Given the description of an element on the screen output the (x, y) to click on. 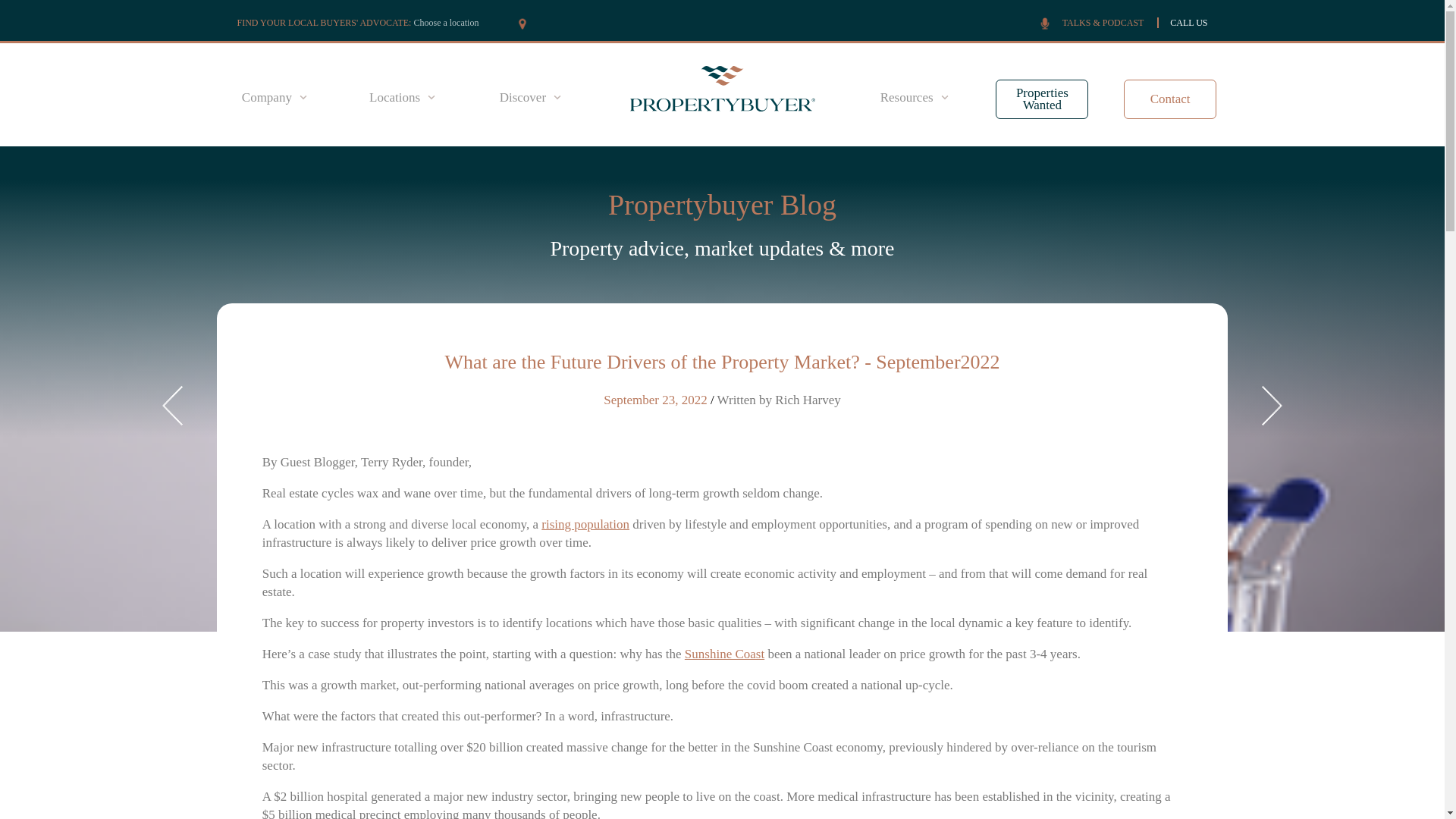
CALL US (1188, 22)
Company (274, 97)
Properties Wanted (1042, 98)
Contact (1170, 98)
Resources (914, 97)
Locations (402, 97)
Discover (529, 97)
